Given the description of an element on the screen output the (x, y) to click on. 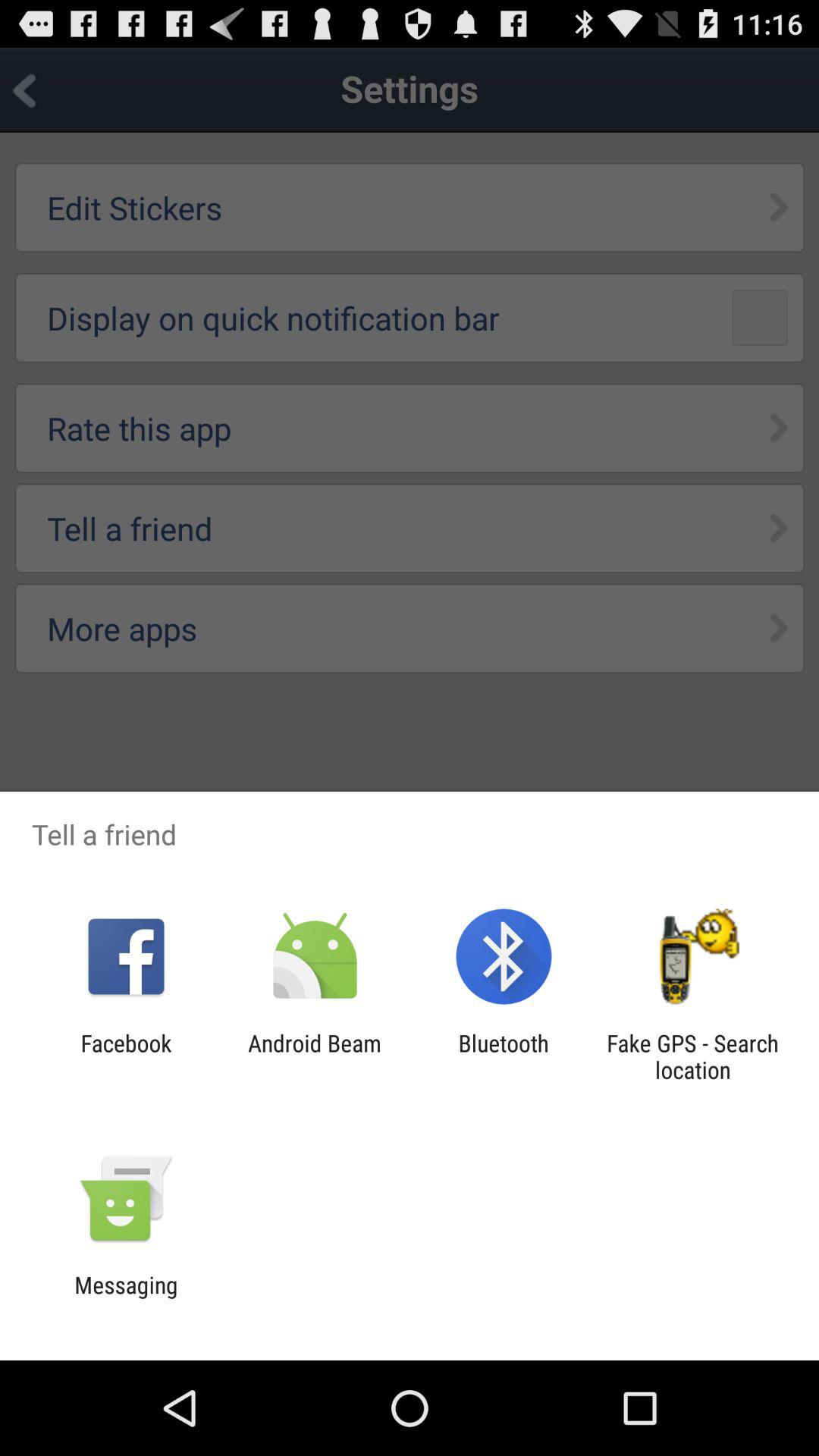
swipe to facebook app (125, 1056)
